Given the description of an element on the screen output the (x, y) to click on. 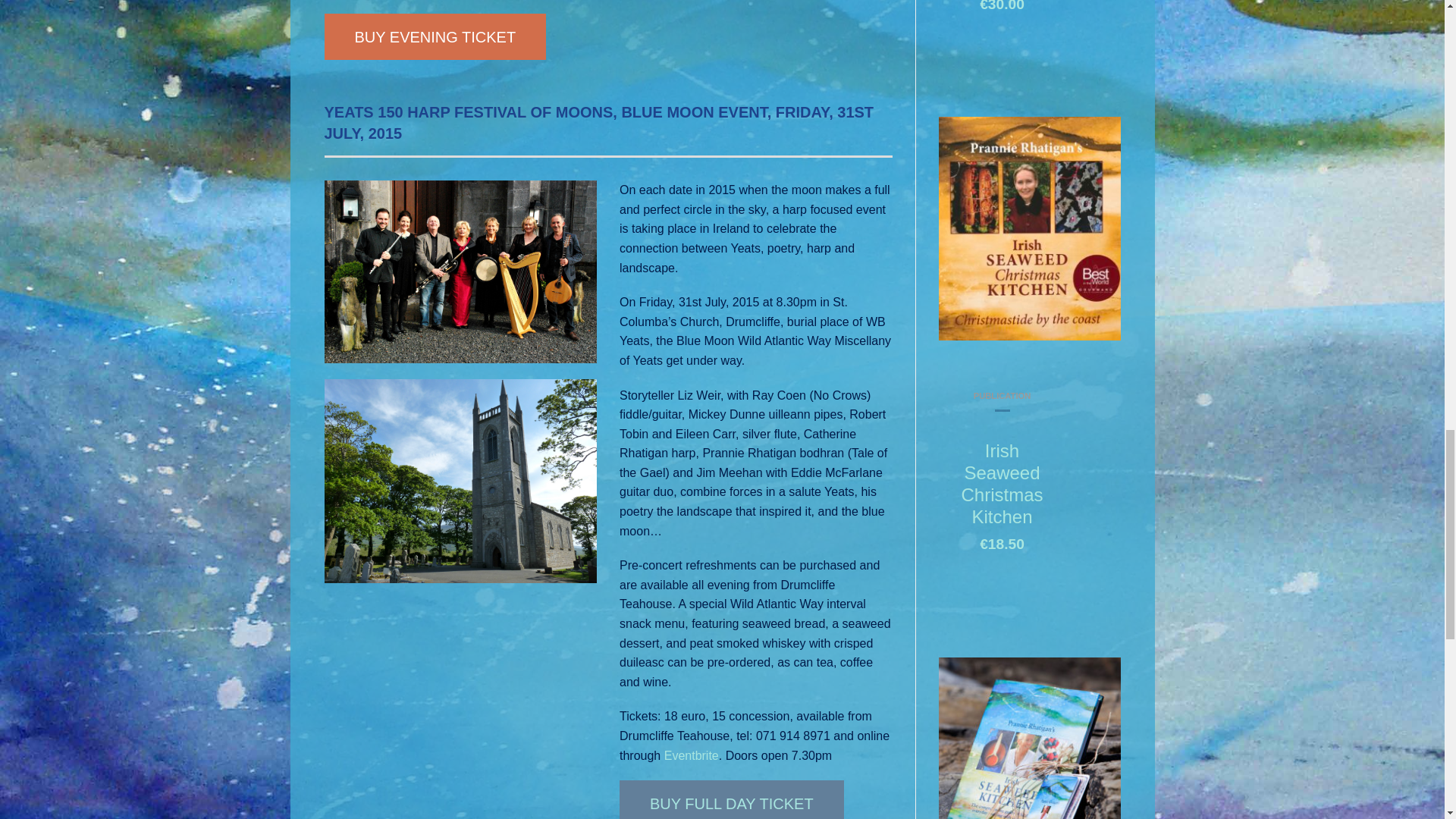
Eventbrite (691, 755)
BUY FULL DAY TICKET (732, 799)
BUY EVENING TICKET (435, 36)
